Given the description of an element on the screen output the (x, y) to click on. 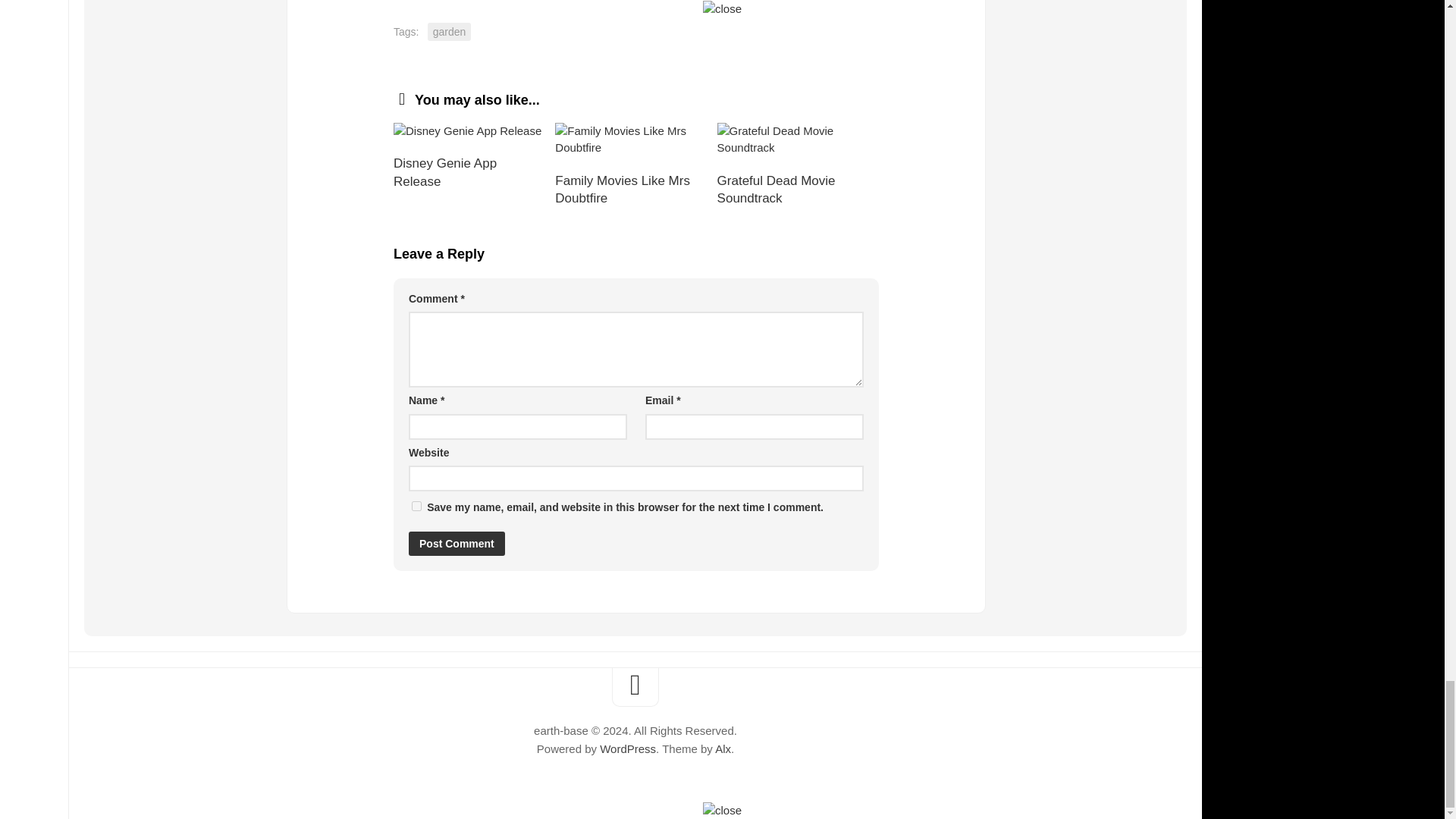
Post Comment (457, 543)
Grateful Dead Movie Soundtrack (797, 139)
Disney Genie App Release (473, 131)
yes (417, 506)
